Given the description of an element on the screen output the (x, y) to click on. 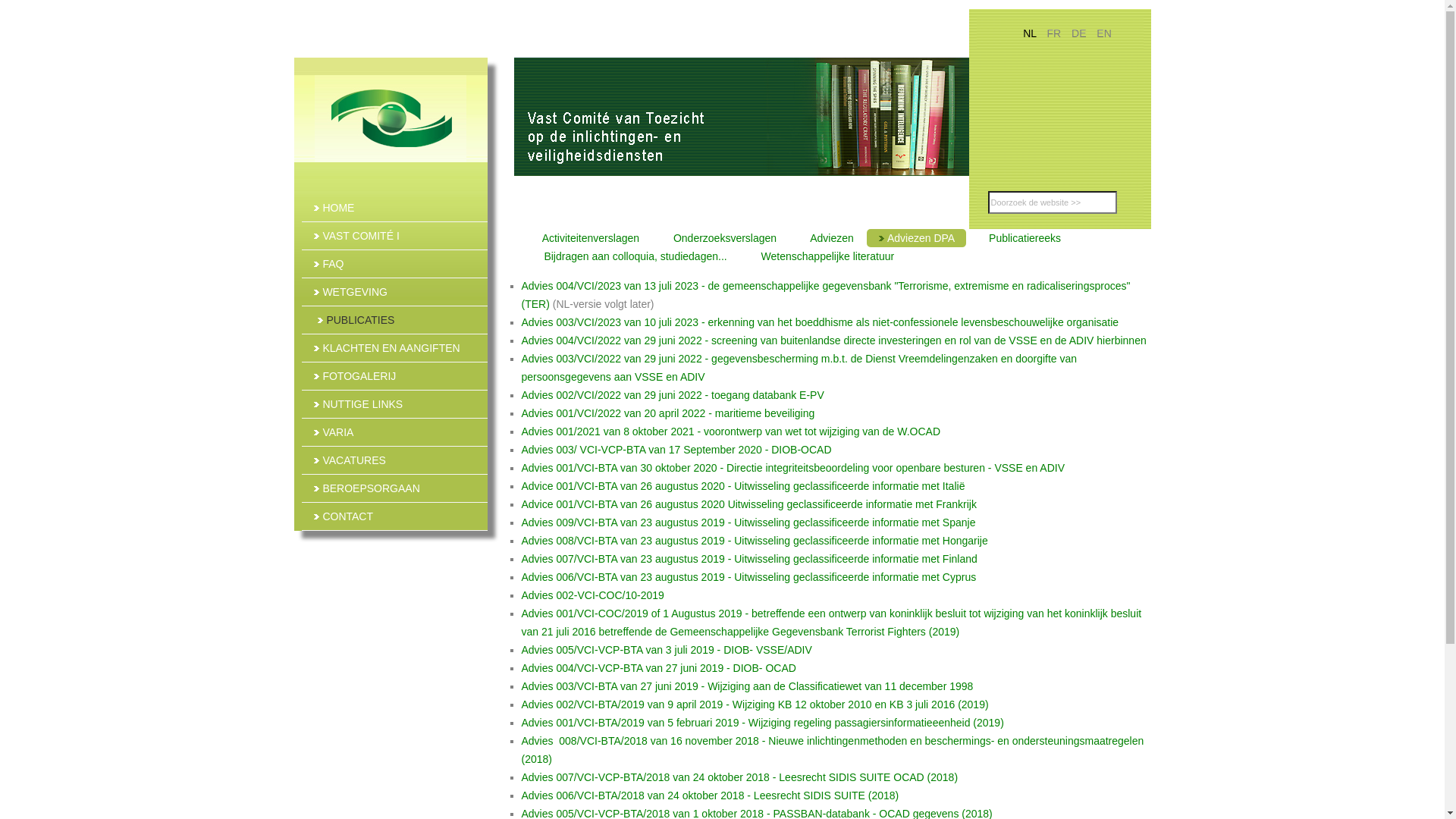
BEROEPSORGAAN Element type: text (394, 488)
Activiteitenverslagen Element type: text (586, 238)
DE Element type: text (1079, 33)
VARIA Element type: text (394, 431)
NUTTIGE LINKS Element type: text (394, 403)
KLACHTEN EN AANGIFTEN Element type: text (394, 347)
Adviezen DPA Element type: text (916, 238)
Advies 004/VCI-VCP-BTA van 27 juni 2019 - DIOB- OCAD Element type: text (658, 668)
HOME Element type: text (394, 207)
PUBLICATIES Element type: text (395, 319)
FOTOGALERIJ Element type: text (394, 375)
EN Element type: text (1103, 33)
CONTACT Element type: text (394, 516)
VACATURES Element type: text (394, 459)
Bijdragen aan colloquia, studiedagen... Element type: text (630, 256)
FR Element type: text (1054, 33)
Adviezen Element type: text (827, 238)
Advies 005/VCI-VCP-BTA van 3 juli 2019 - DIOB- VSSE/ADIV Element type: text (666, 649)
Advies 002-VCI-COC/10-2019 Element type: text (592, 595)
WETGEVING Element type: text (394, 291)
Advies 003/ VCI-VCP-BTA van 17 September 2020 - DIOB-OCAD Element type: text (676, 449)
Onderzoeksverslagen Element type: text (719, 238)
Publicatiereeks Element type: text (1019, 238)
NL Element type: text (1030, 33)
Wetenschappelijke literatuur Element type: text (823, 256)
Advies 002/VCI/2022 van 29 juni 2022 - toegang databank E-PV Element type: text (672, 395)
FAQ Element type: text (394, 263)
